Given the description of an element on the screen output the (x, y) to click on. 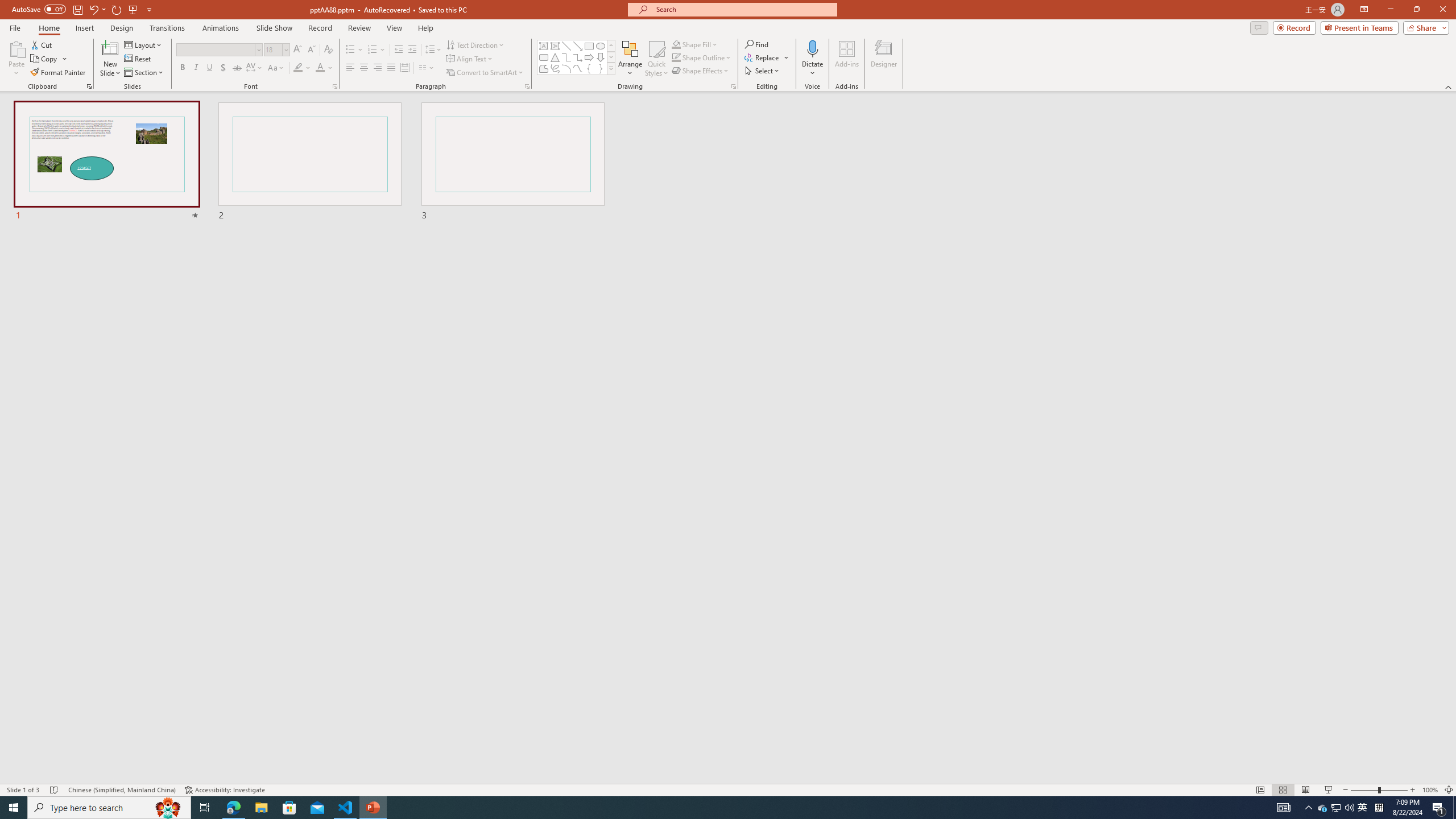
Line (566, 45)
Align Right (377, 67)
Row Down (611, 56)
Freeform: Scribble (554, 68)
Open (285, 49)
Bold (182, 67)
Text Direction (476, 44)
Row up (611, 45)
Shape Effects (700, 69)
Microsoft search (742, 9)
Normal (1260, 790)
Numbering (376, 49)
Office Clipboard... (88, 85)
Font Color Red (320, 67)
